Given the description of an element on the screen output the (x, y) to click on. 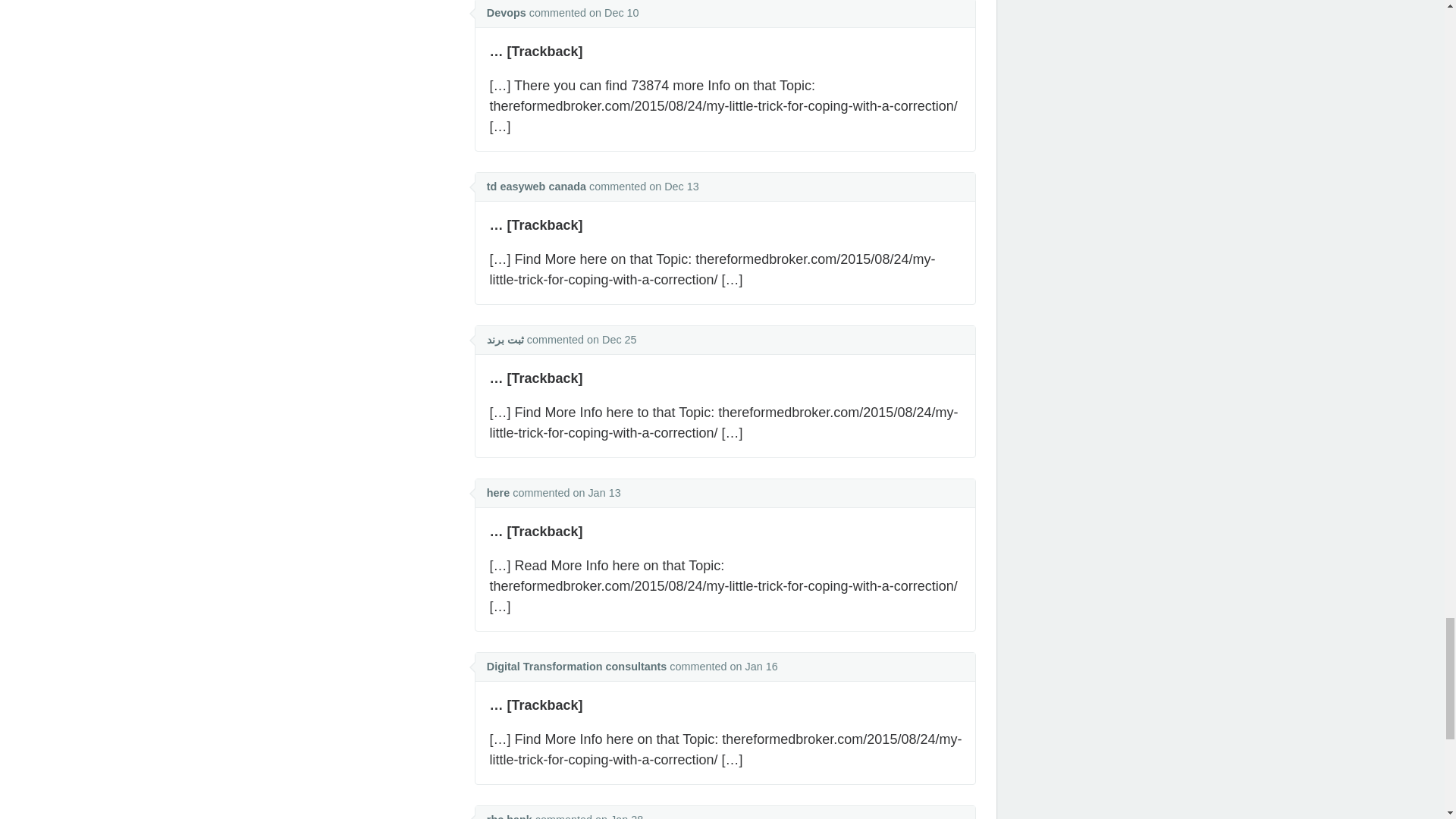
Devops (505, 12)
here (497, 492)
td easyweb canada (536, 186)
